Given the description of an element on the screen output the (x, y) to click on. 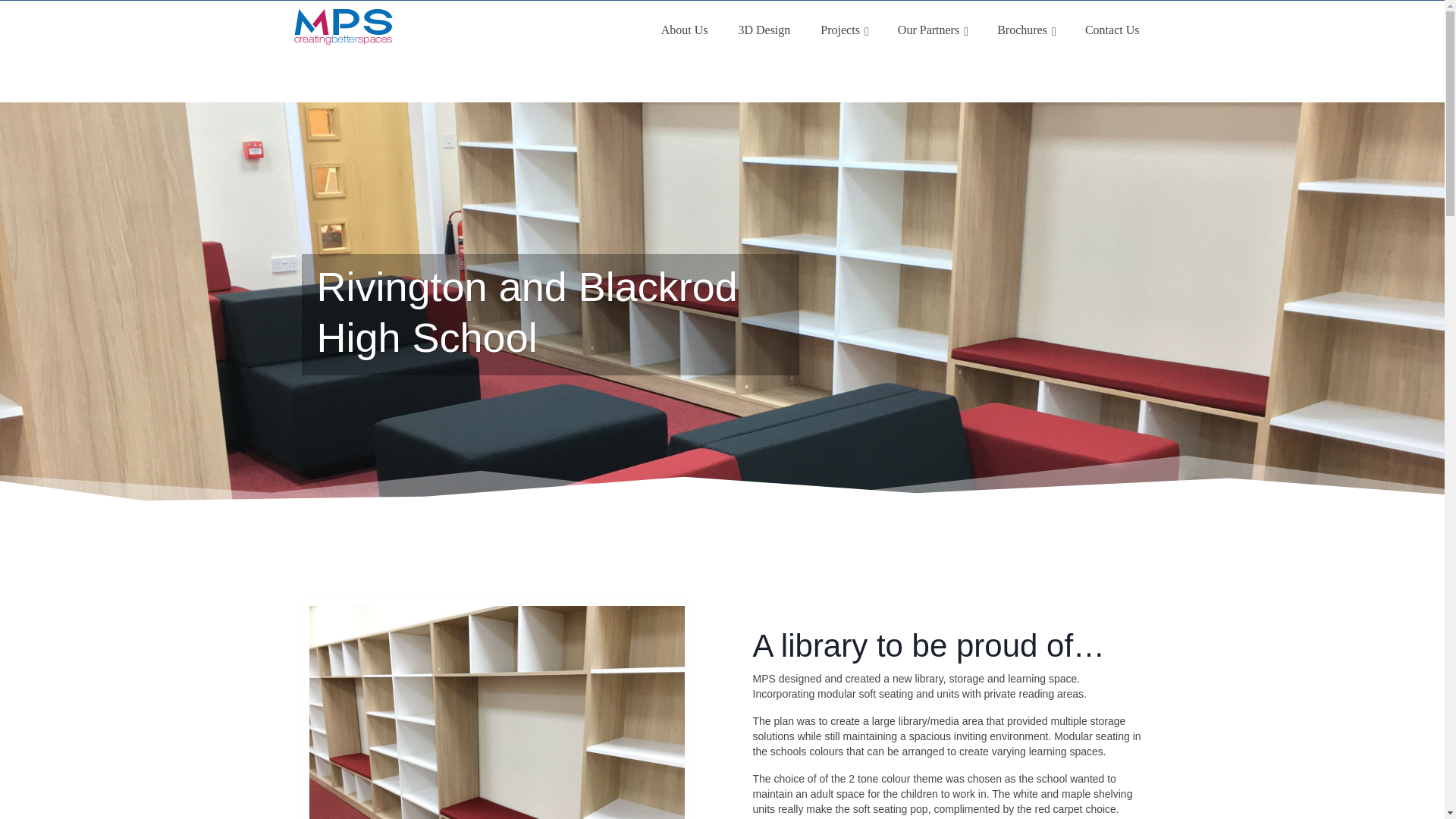
3D Design (763, 30)
Our Partners (931, 30)
About Us (684, 30)
MPS Furniture (428, 27)
Brochures (1025, 30)
Contact Us (1112, 30)
Projects (843, 30)
